Given the description of an element on the screen output the (x, y) to click on. 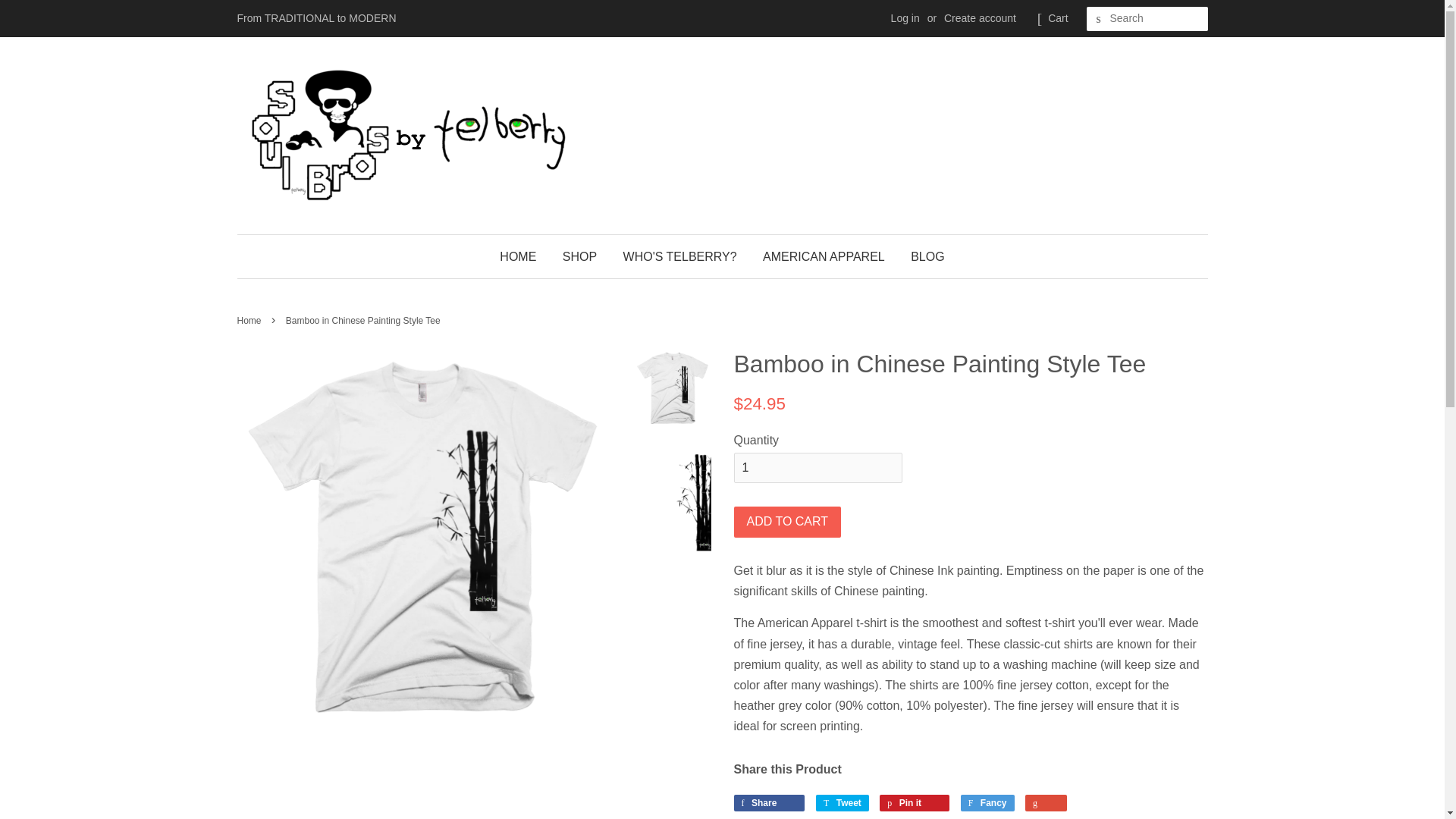
HOME (523, 256)
Cart (1057, 18)
Fancy (987, 802)
Back to the frontpage (249, 320)
ADD TO CART (787, 521)
SEARCH (1097, 18)
AMERICAN APPAREL (823, 256)
Log in (905, 18)
SHOP (579, 256)
Tweet (842, 802)
Share (769, 802)
Create account (979, 18)
WHO'S TELBERRY? (679, 256)
Home (249, 320)
BLOG (921, 256)
